Given the description of an element on the screen output the (x, y) to click on. 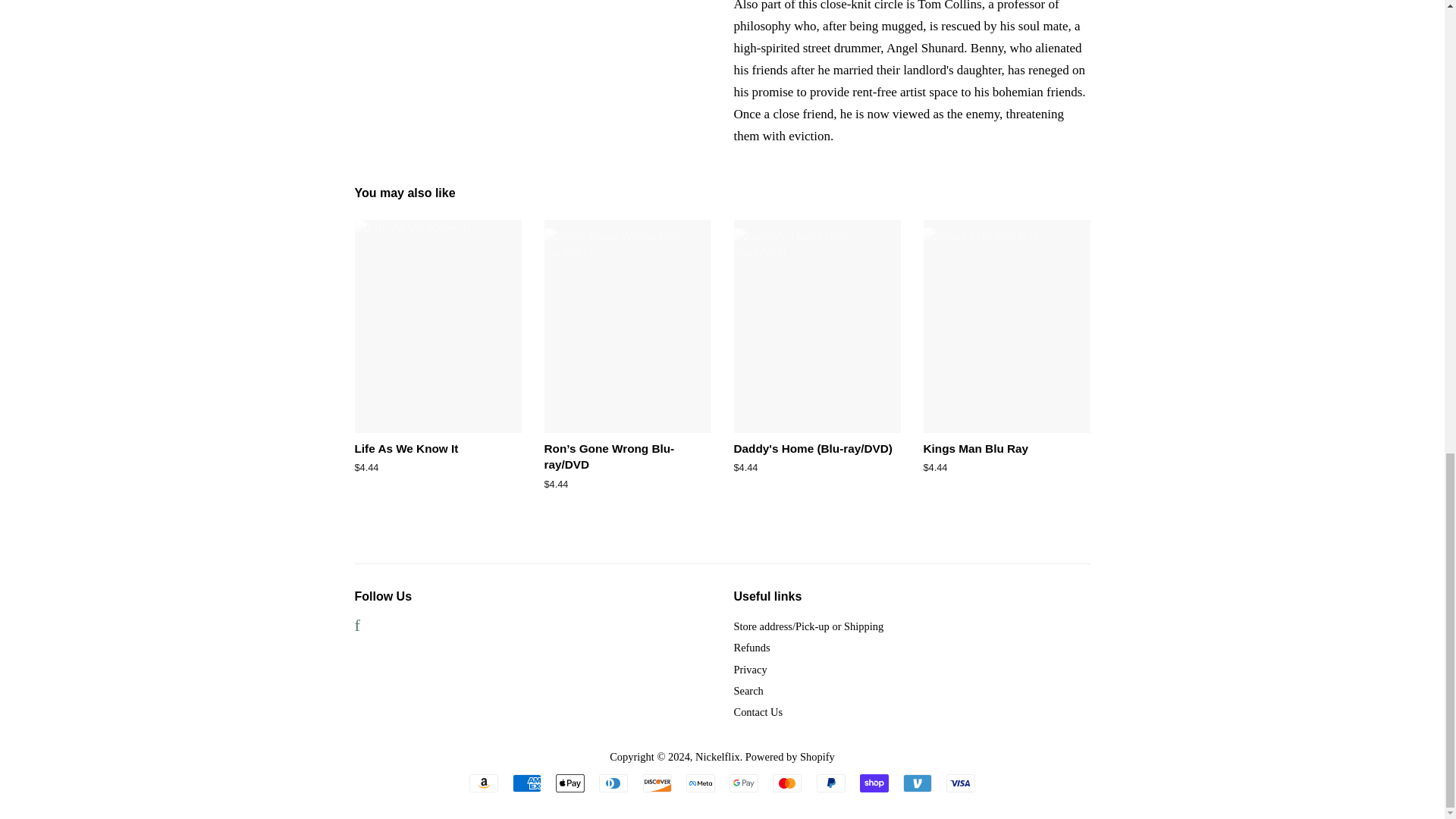
Discover (657, 782)
Diners Club (612, 782)
Venmo (916, 782)
Shop Pay (874, 782)
Apple Pay (570, 782)
Google Pay (743, 782)
Meta Pay (699, 782)
Visa (960, 782)
Mastercard (787, 782)
American Express (526, 782)
